Given the description of an element on the screen output the (x, y) to click on. 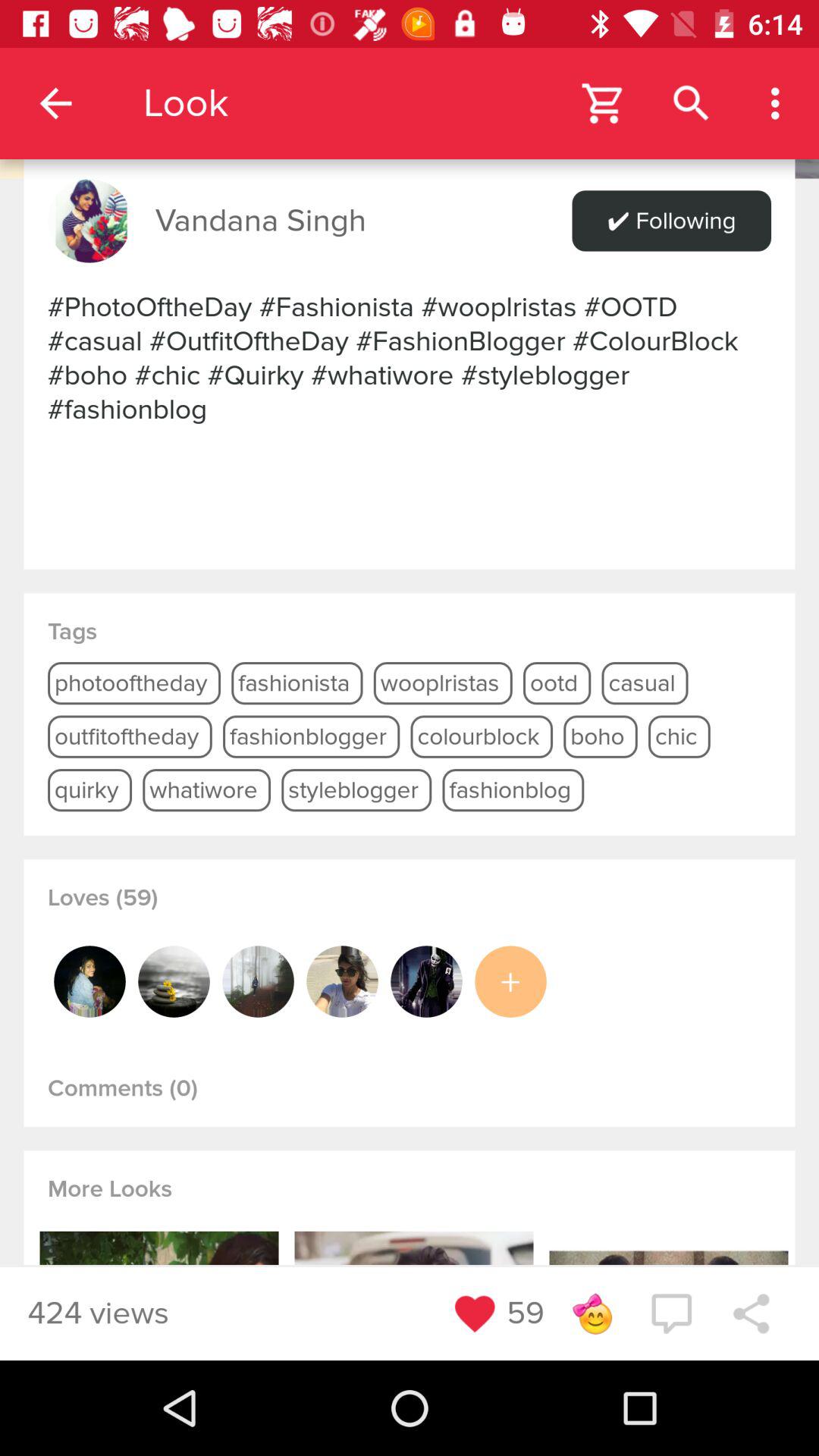
share media (751, 1313)
